Given the description of an element on the screen output the (x, y) to click on. 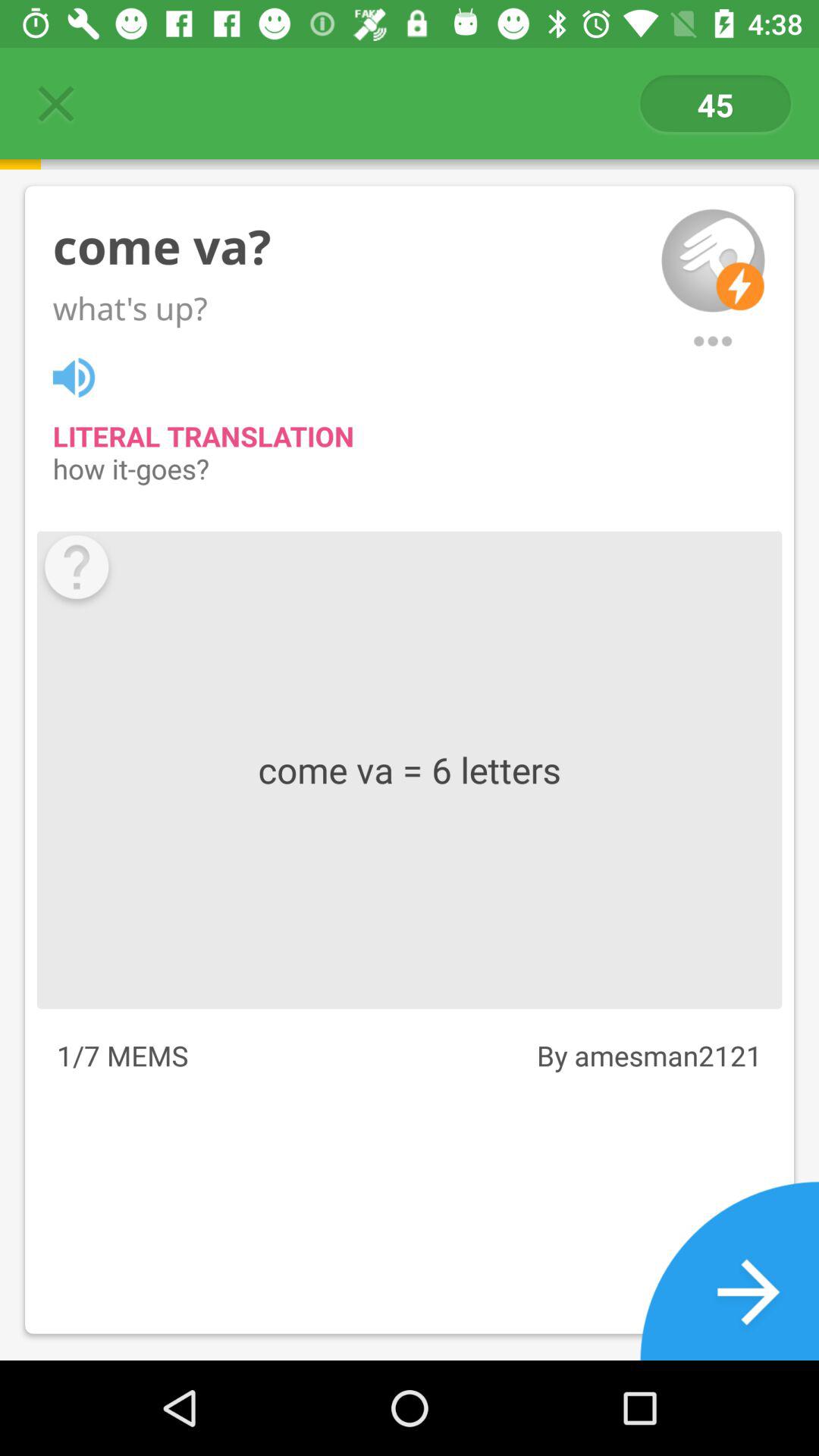
menu for more actions (712, 341)
